Given the description of an element on the screen output the (x, y) to click on. 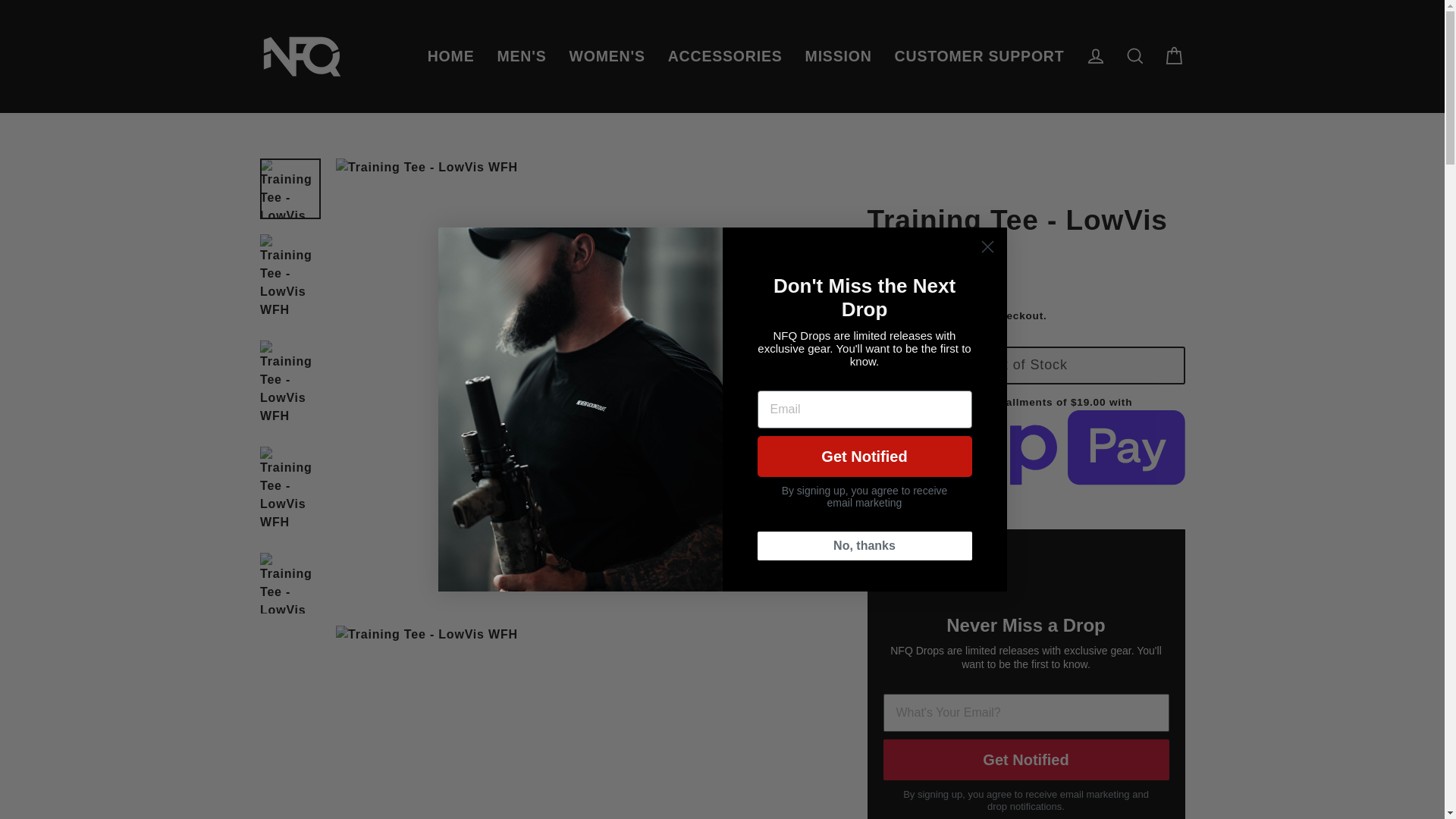
MISSION (838, 55)
WOMEN'S (606, 55)
ACCESSORIES (724, 55)
MEN'S (520, 55)
HOME (451, 55)
